Given the description of an element on the screen output the (x, y) to click on. 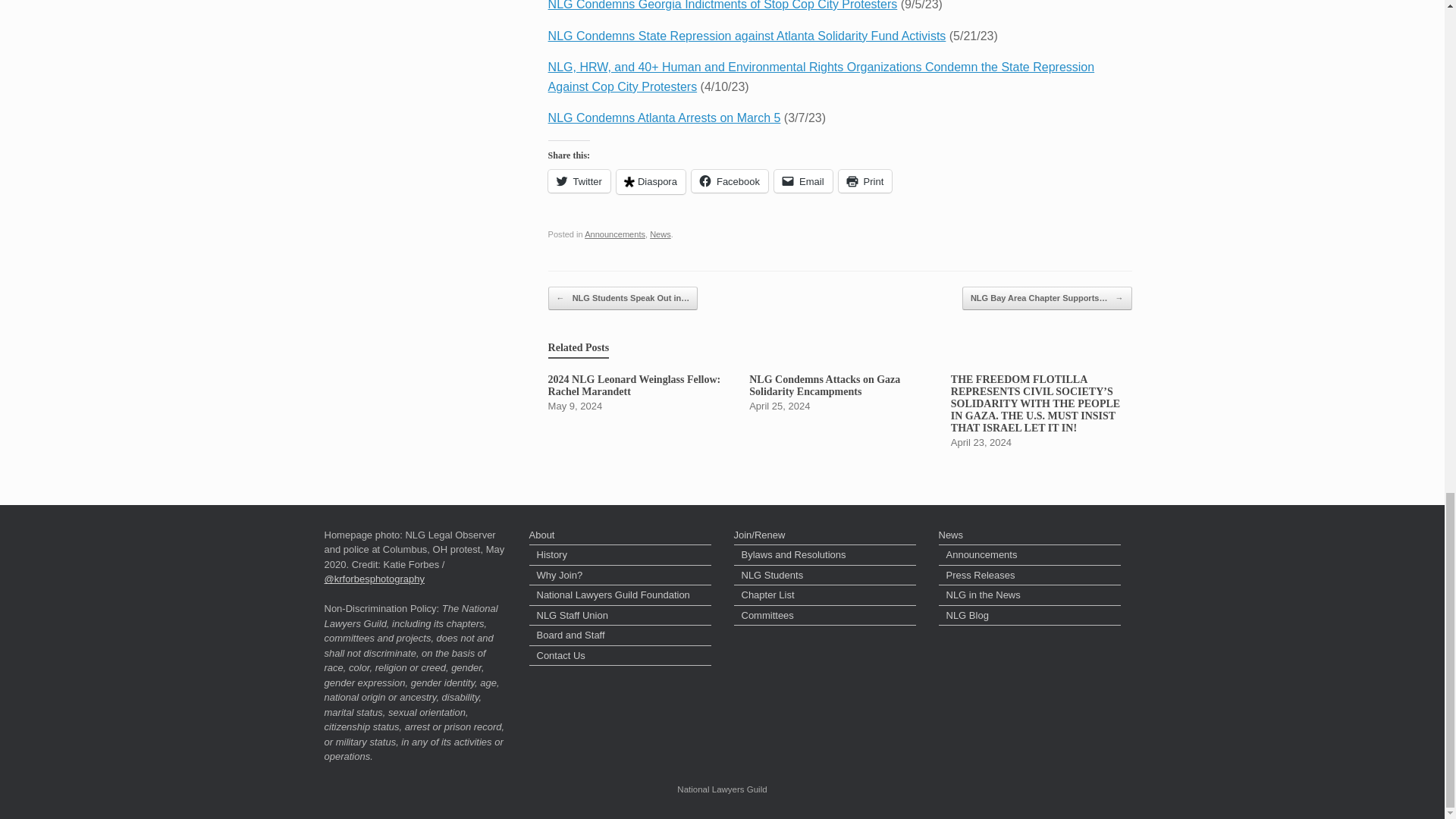
Click to share on Diaspora (650, 181)
2024 NLG Leonard Weinglass Fellow: Rachel Marandett (638, 392)
NLG Condemns Attacks on Gaza Solidarity Encampments (839, 392)
Click to share on Twitter (579, 180)
Click to email a link to a friend (803, 180)
Click to print (865, 180)
Click to share on Facebook (729, 180)
